Given the description of an element on the screen output the (x, y) to click on. 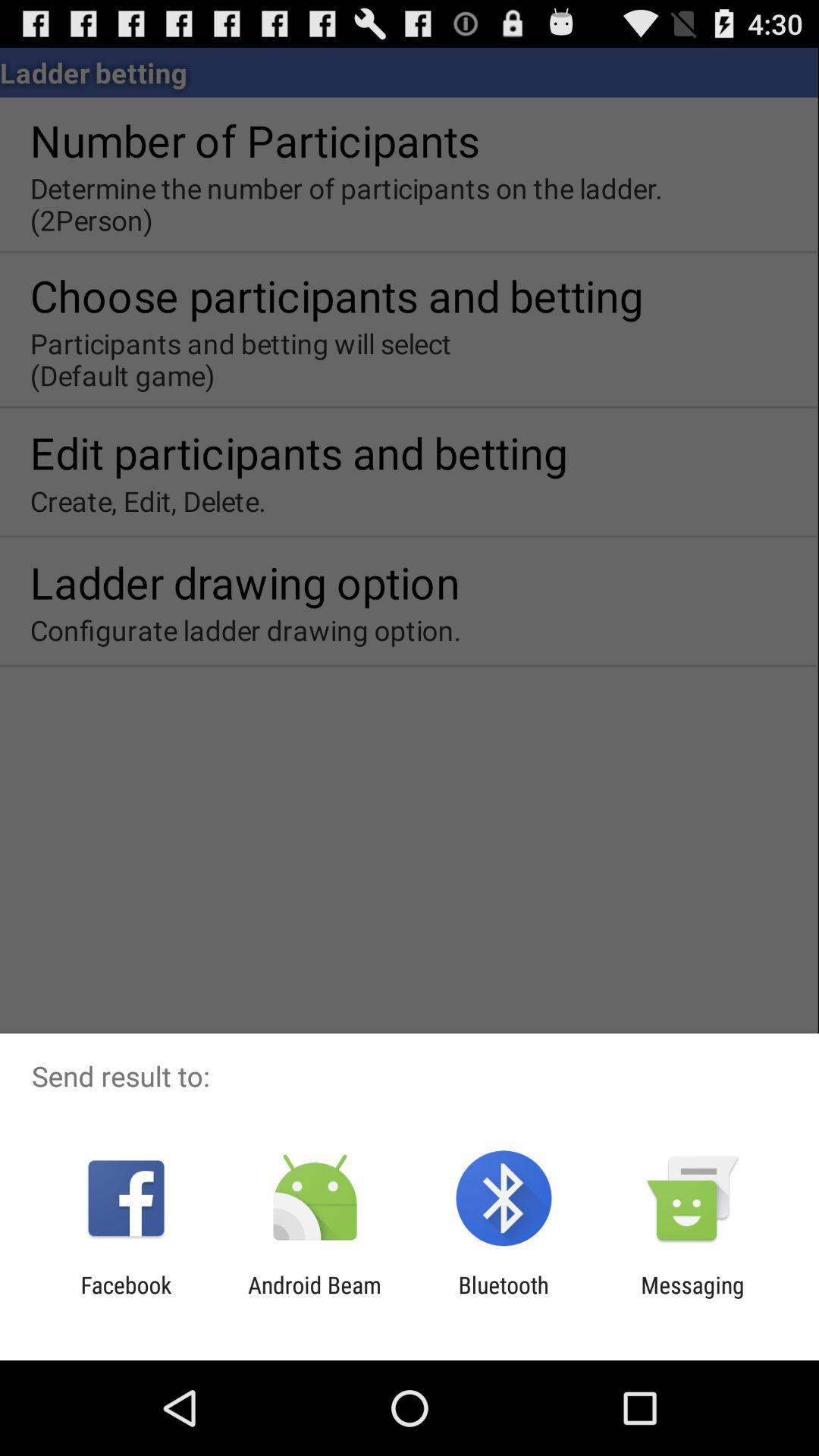
turn on the bluetooth (503, 1298)
